Given the description of an element on the screen output the (x, y) to click on. 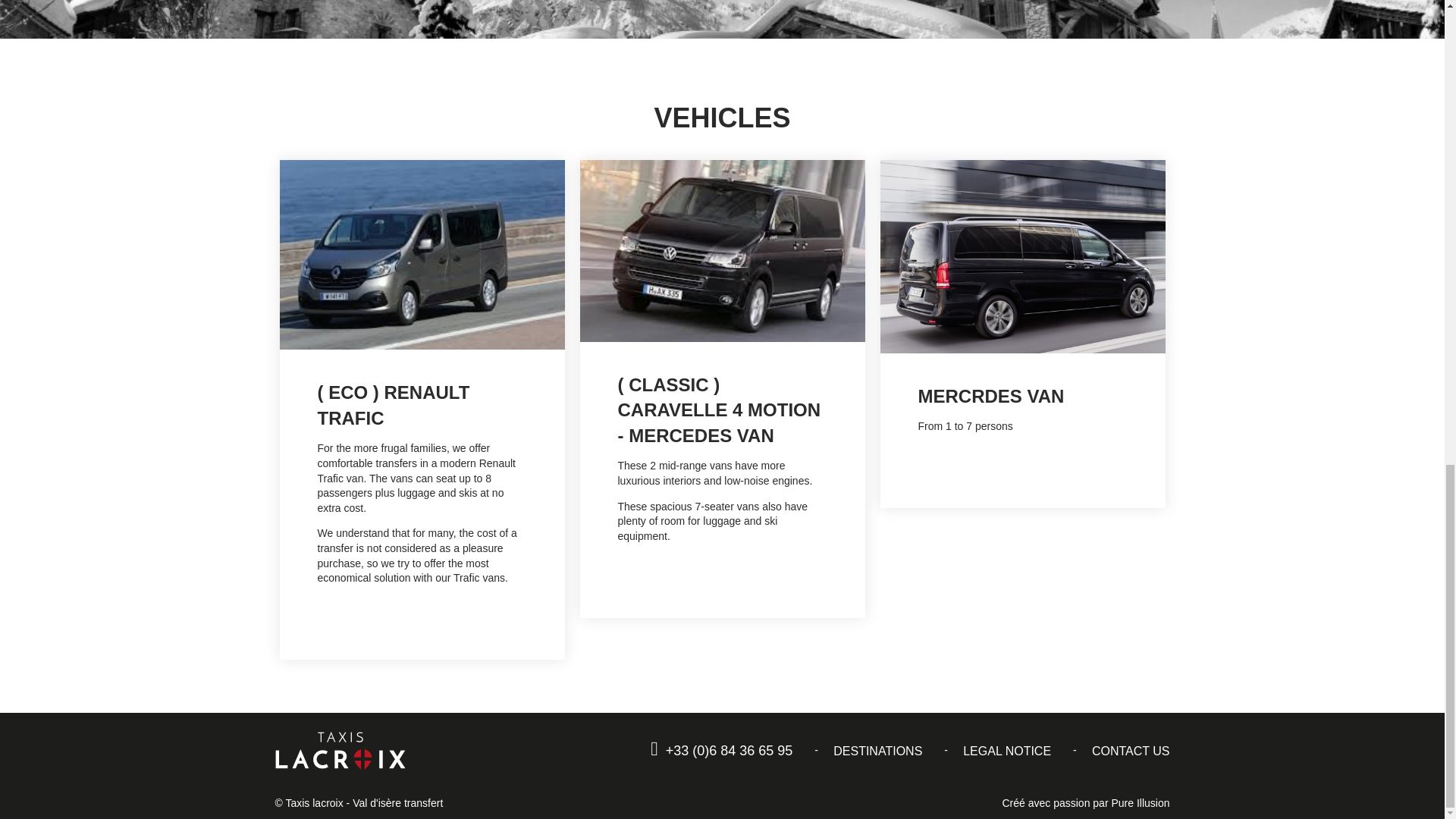
CONTACT US (1131, 750)
Agence Web annecy (1139, 802)
Pure Illusion (1139, 802)
DESTINATIONS (876, 750)
LEGAL NOTICE (1006, 750)
